Given the description of an element on the screen output the (x, y) to click on. 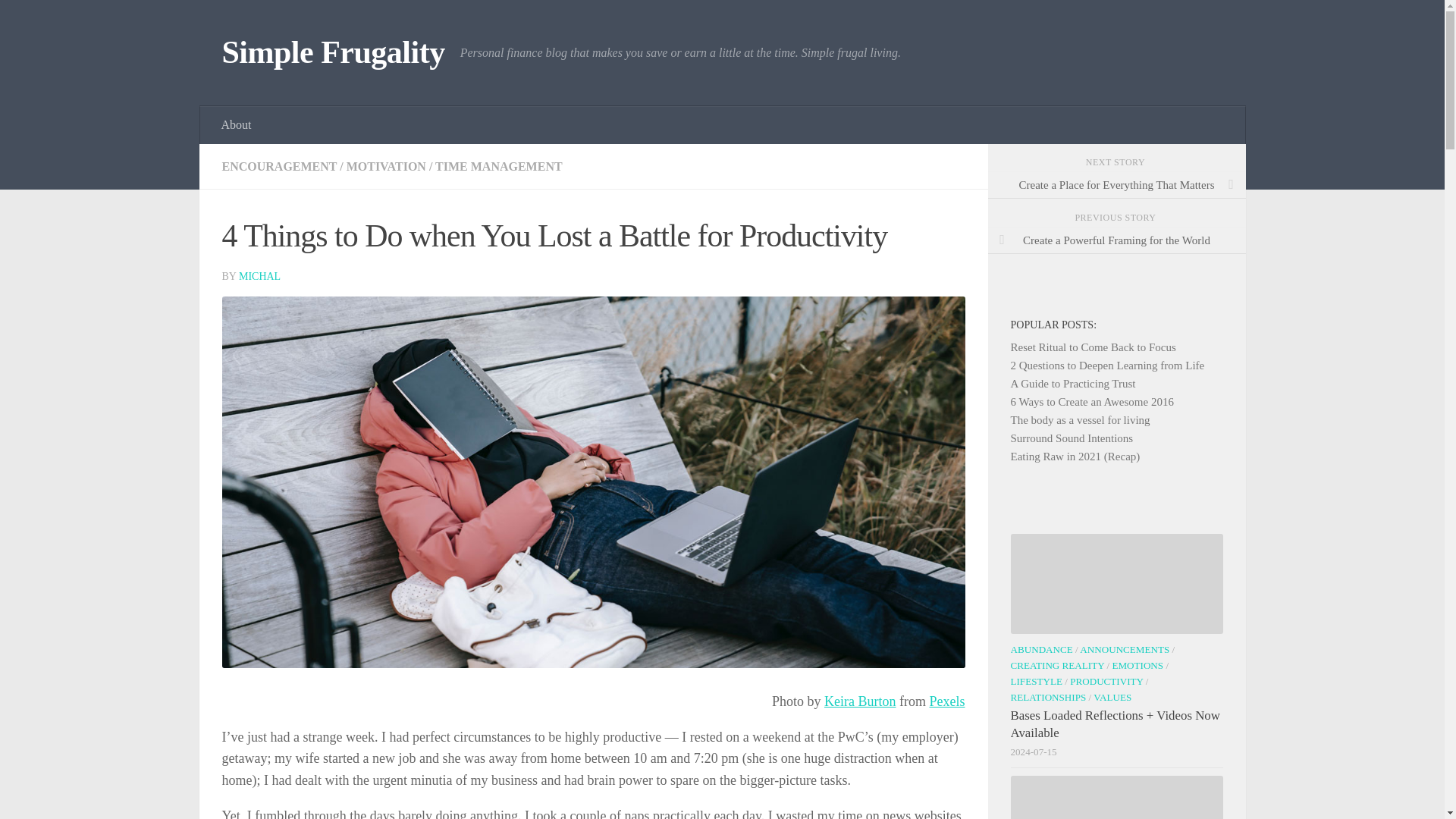
Keira Burton (859, 701)
About (236, 125)
TIME MANAGEMENT (498, 165)
ENCOURAGEMENT (278, 165)
6 Ways to Create an Awesome 2016 (1091, 401)
MICHAL (259, 276)
Simple Frugality (332, 53)
Posts by Michal (259, 276)
Pexels (947, 701)
Skip to content (59, 20)
2 Questions to Deepen Learning from Life (1107, 365)
Reset Ritual to Come Back to Focus (1092, 346)
ANNOUNCEMENTS (1124, 649)
A Guide to Practicing Trust (1072, 383)
Create a Place for Everything That Matters (1115, 185)
